Given the description of an element on the screen output the (x, y) to click on. 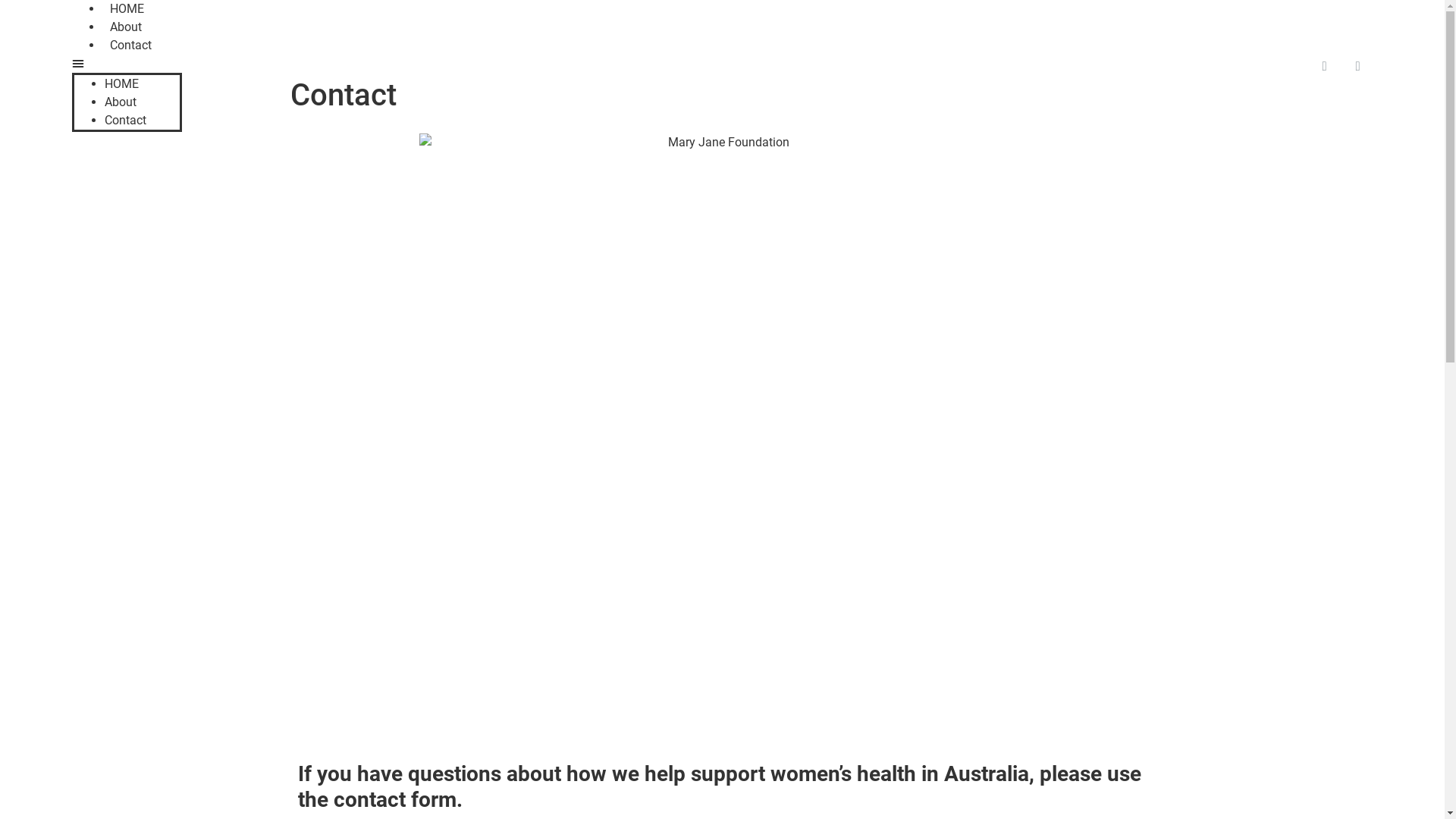
About Element type: text (120, 101)
Contact Element type: text (125, 119)
Contact Element type: text (130, 44)
HOME Element type: text (121, 83)
About Element type: text (125, 26)
